Given the description of an element on the screen output the (x, y) to click on. 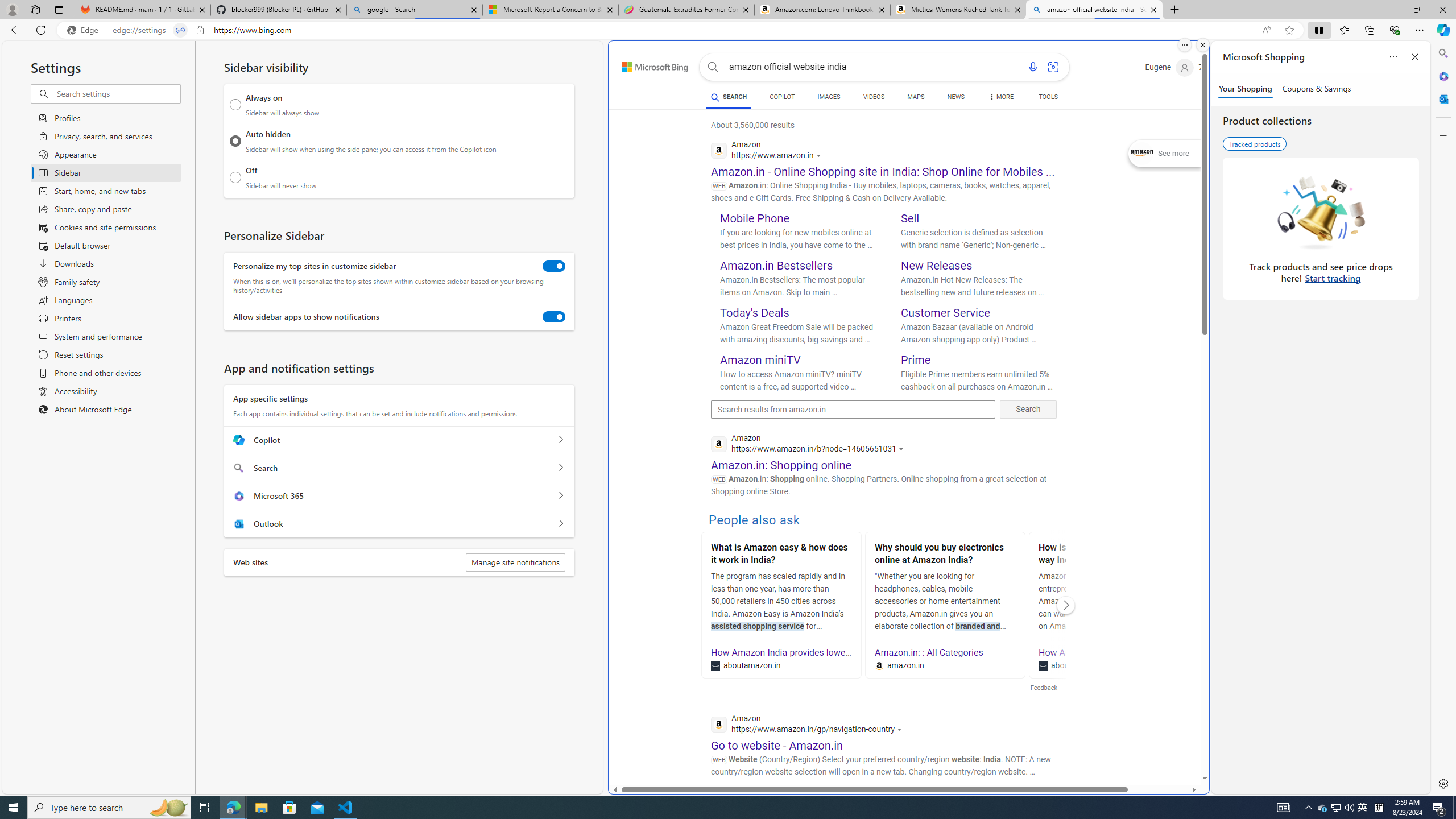
Manage site notifications (514, 562)
AutomationID: mfa_root (1161, 743)
Today's Deals (754, 312)
SEARCH (728, 96)
MORE (1000, 98)
Amazon miniTV (760, 359)
Microsoft Rewards 72 (1214, 67)
